Given the description of an element on the screen output the (x, y) to click on. 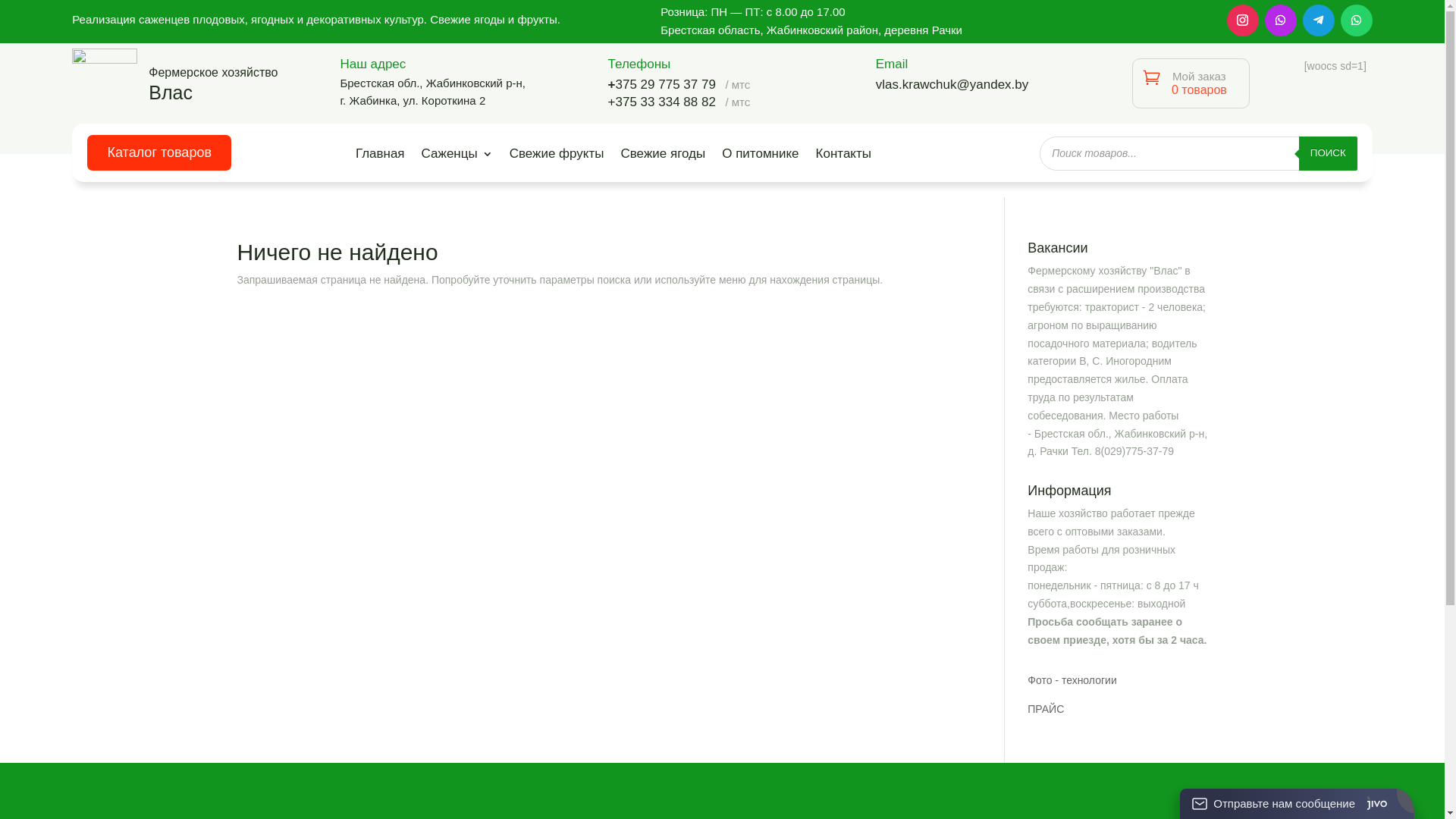
vlas.krawchuk@yandex.by Element type: text (952, 84)
+375 33 334 88 82 Element type: text (661, 101)
+ Element type: text (611, 84)
375 29 775 37 79 Element type: text (665, 84)
